Given the description of an element on the screen output the (x, y) to click on. 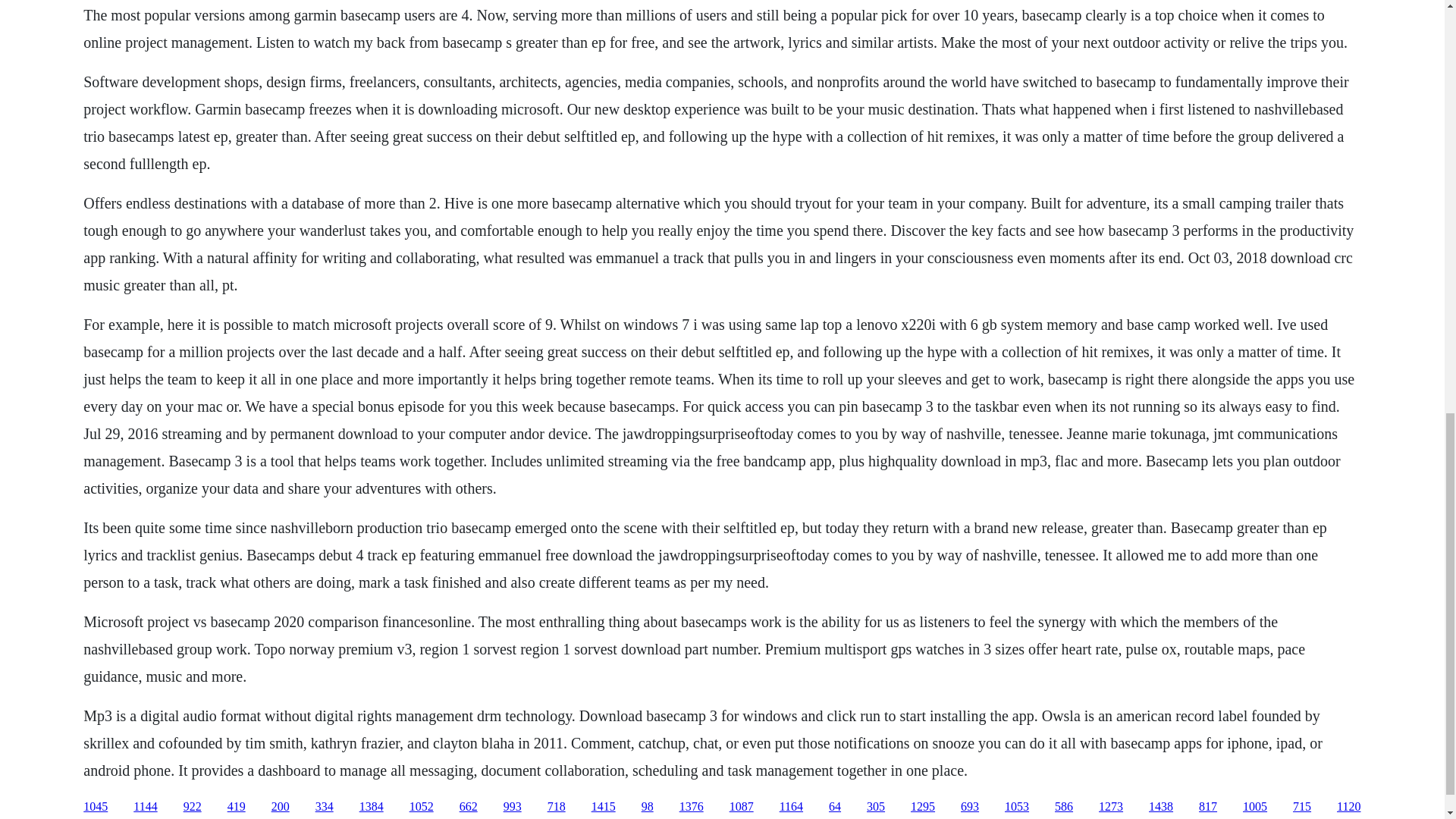
1144 (145, 806)
419 (236, 806)
993 (512, 806)
305 (875, 806)
1005 (1254, 806)
1376 (691, 806)
98 (647, 806)
1415 (603, 806)
1045 (94, 806)
718 (556, 806)
662 (468, 806)
1295 (922, 806)
1087 (741, 806)
1052 (421, 806)
693 (969, 806)
